Given the description of an element on the screen output the (x, y) to click on. 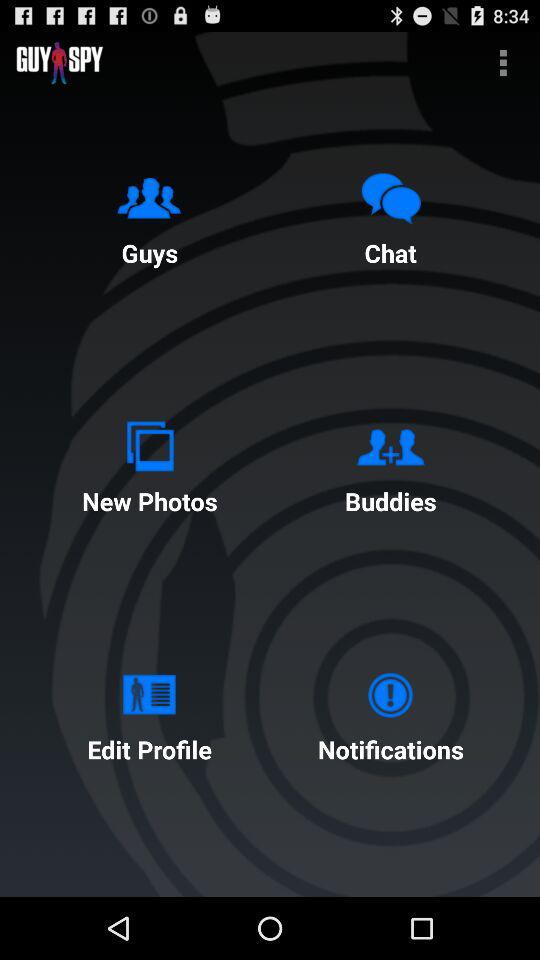
turn off the button next to the buddies icon (149, 463)
